Given the description of an element on the screen output the (x, y) to click on. 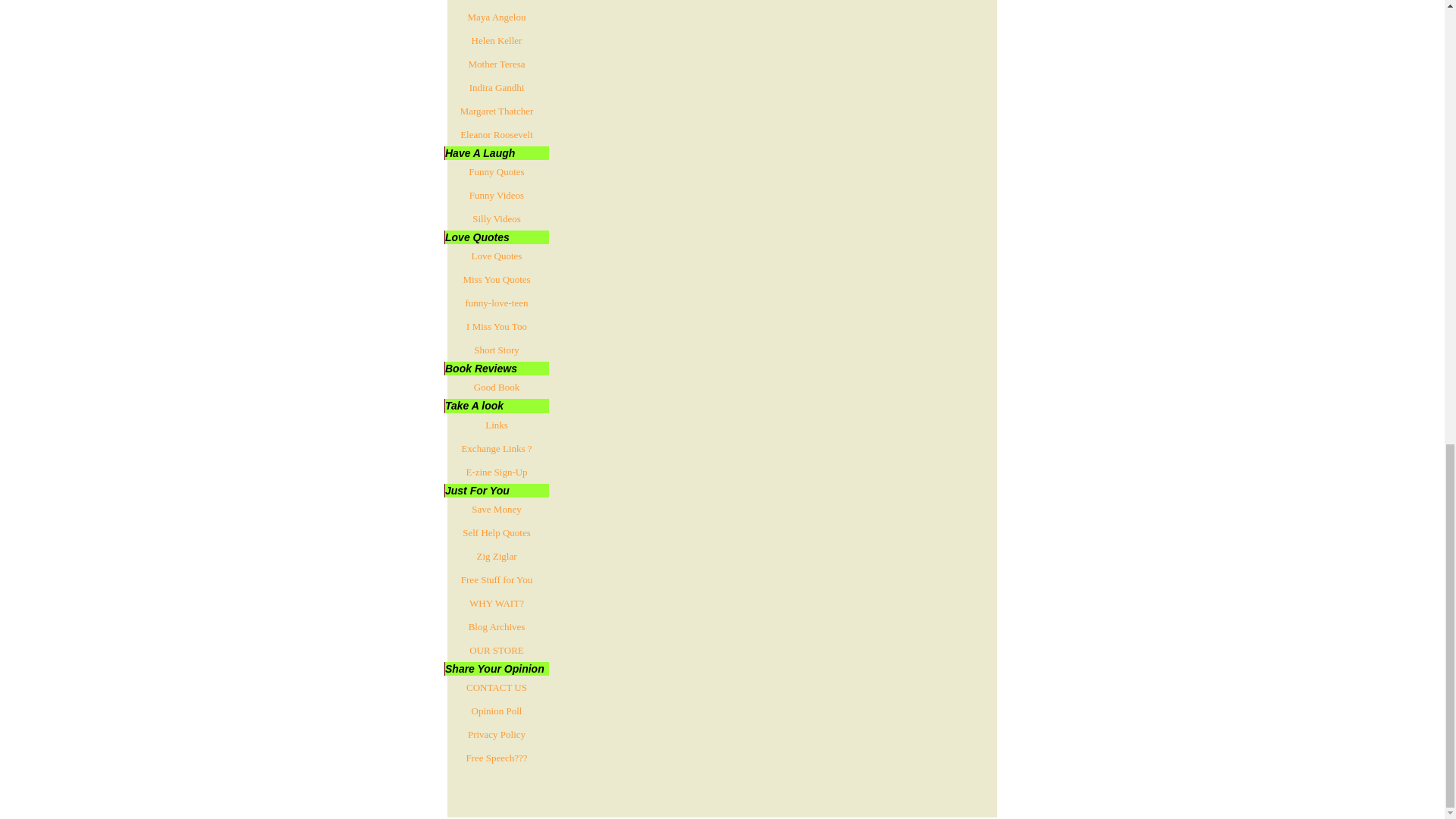
Maya Angelou (496, 16)
Helen Keller (496, 40)
Indira Gandhi (496, 87)
Mother Teresa (496, 64)
Oprah Quotes (496, 2)
